Given the description of an element on the screen output the (x, y) to click on. 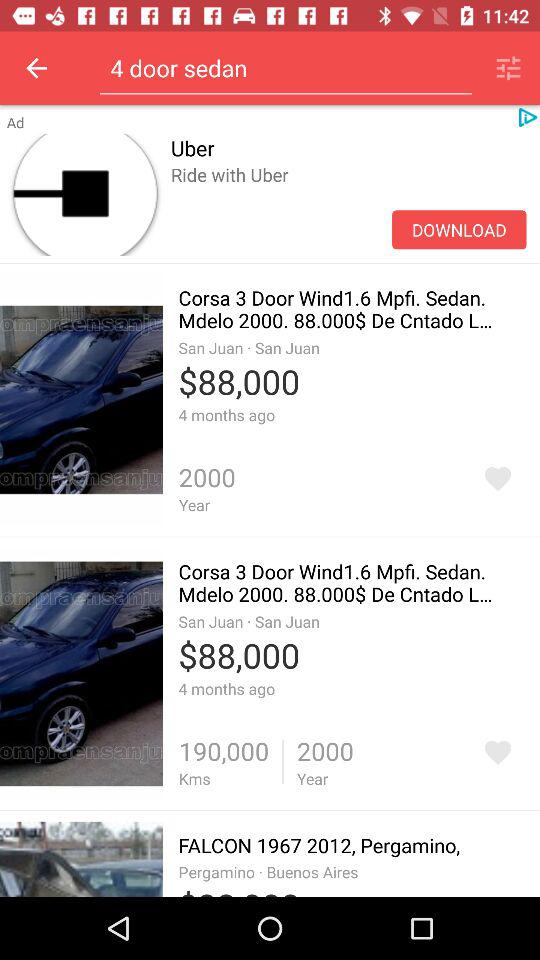
turn off the item below uber (459, 229)
